Given the description of an element on the screen output the (x, y) to click on. 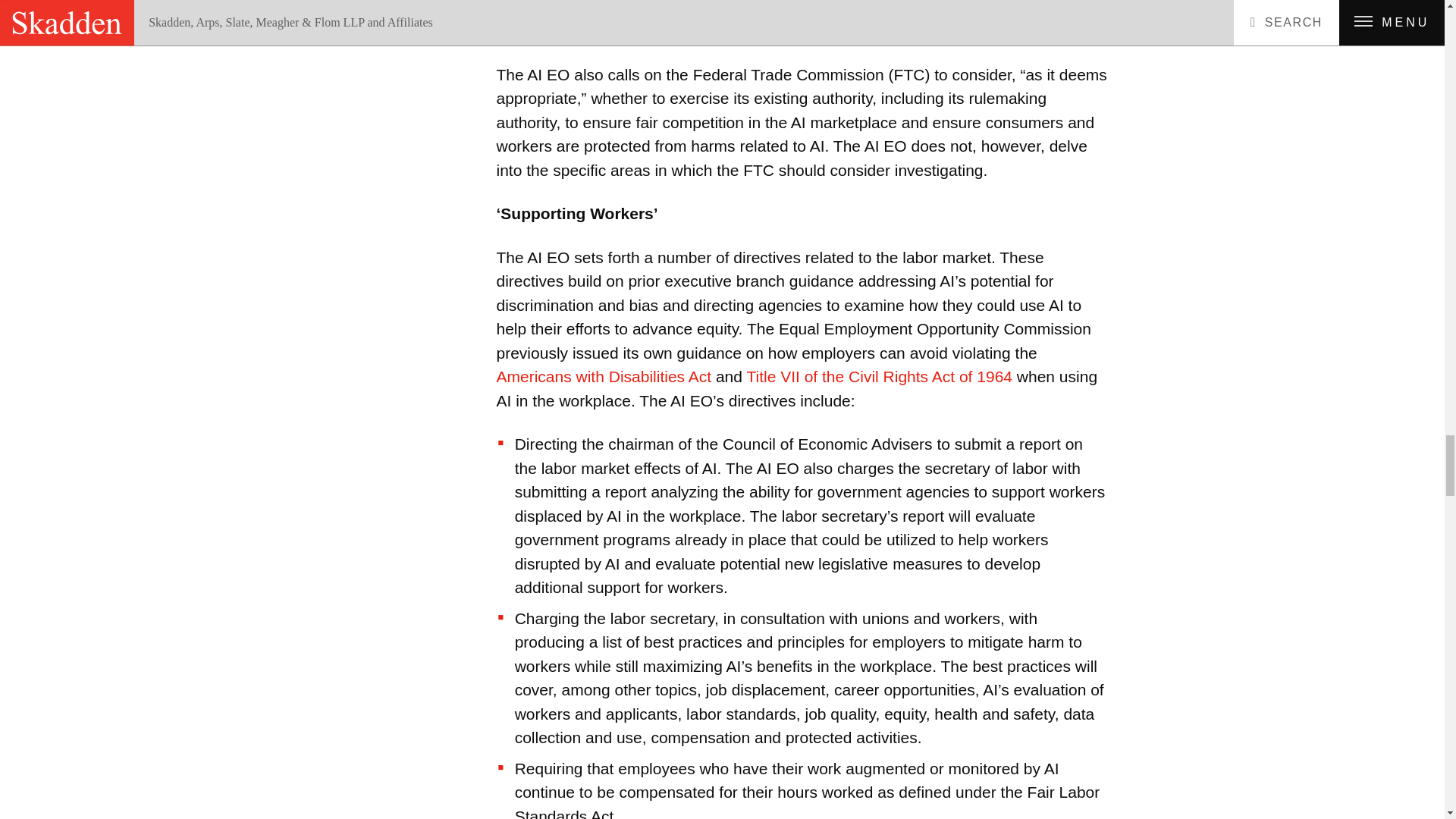
Title VII of the Civil Rights Act of 1964 (880, 375)
Americans with Disabilities Act (605, 375)
